Given the description of an element on the screen output the (x, y) to click on. 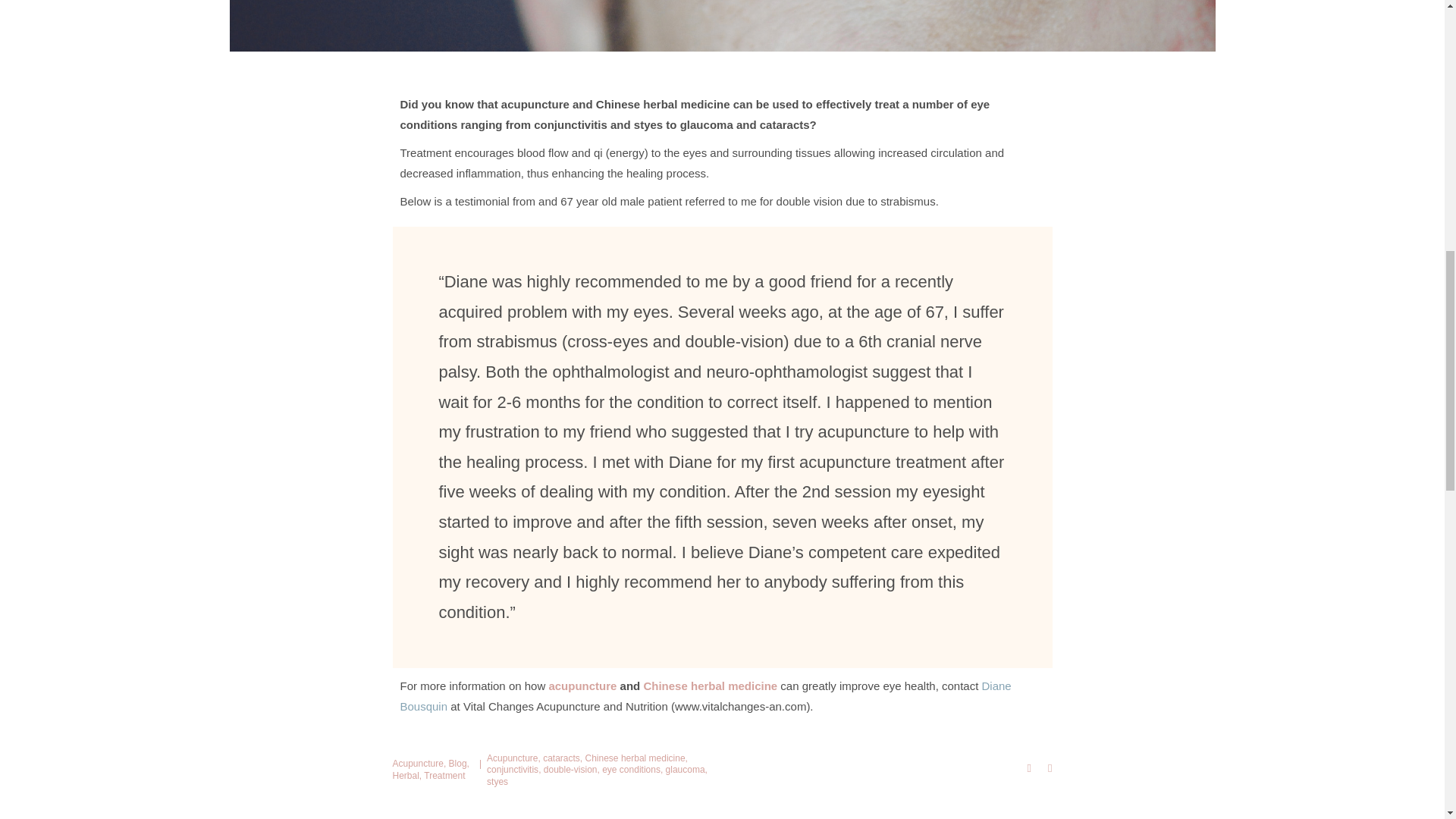
Diane Bousquin (705, 695)
Chinese Herbal Medicine San Diego (710, 685)
San Diego Acupuncture  (584, 685)
Acupuncture (418, 763)
Chinese herbal medicine (710, 685)
Blog (457, 763)
Treatment (443, 775)
acupuncture (584, 685)
Herbal (406, 775)
Diane Bousquin (705, 695)
